Given the description of an element on the screen output the (x, y) to click on. 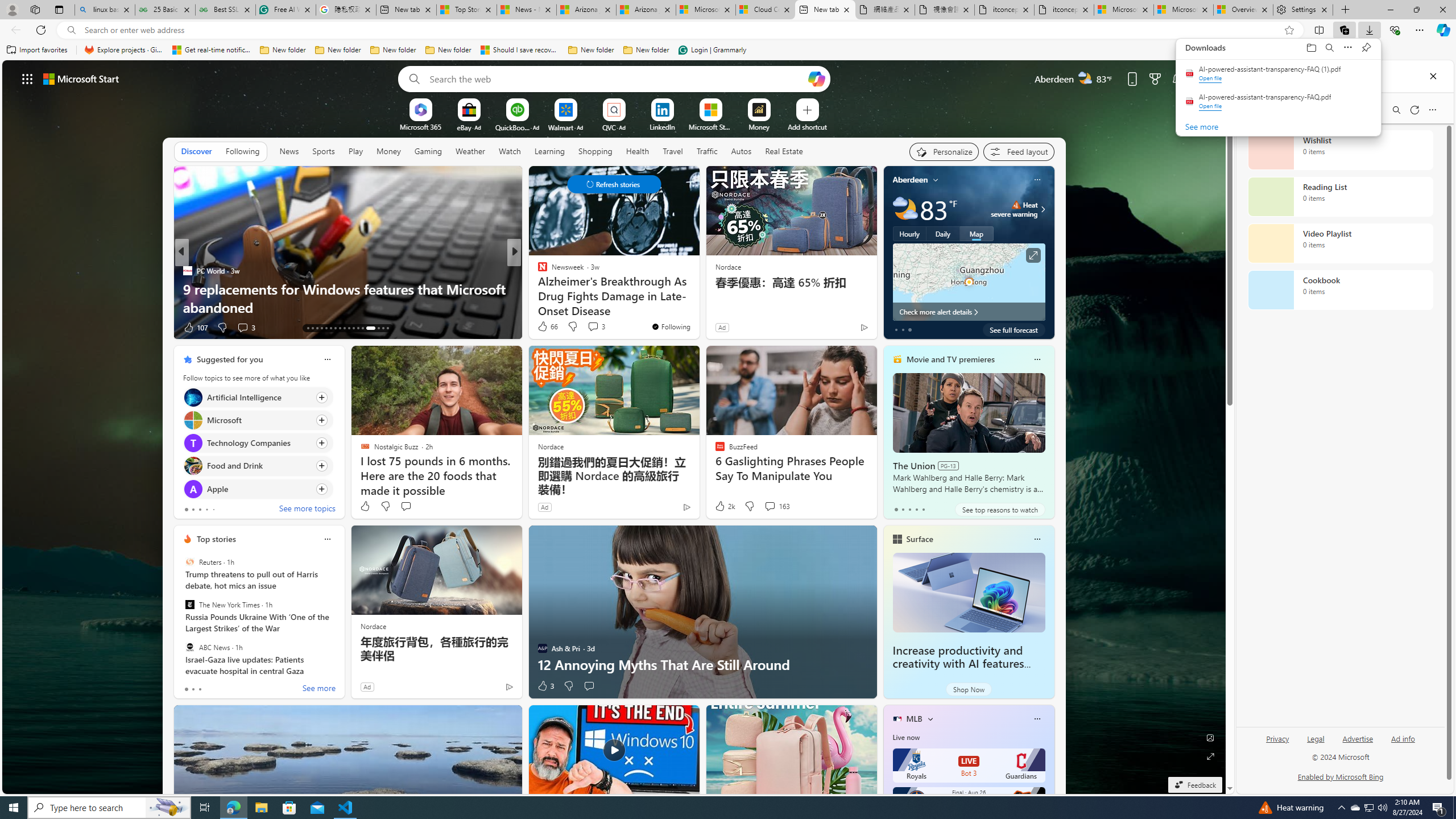
Search icon (70, 29)
News - MSN (527, 9)
MLB (914, 718)
Real Estate (783, 151)
Best SSL Certificates Provider in India - GeeksforGeeks (225, 9)
Ad Choice (508, 686)
AutomationID: tab-13 (307, 328)
Microsoft start (81, 78)
Learning (549, 151)
AutomationID: tab-17 (326, 328)
